Given the description of an element on the screen output the (x, y) to click on. 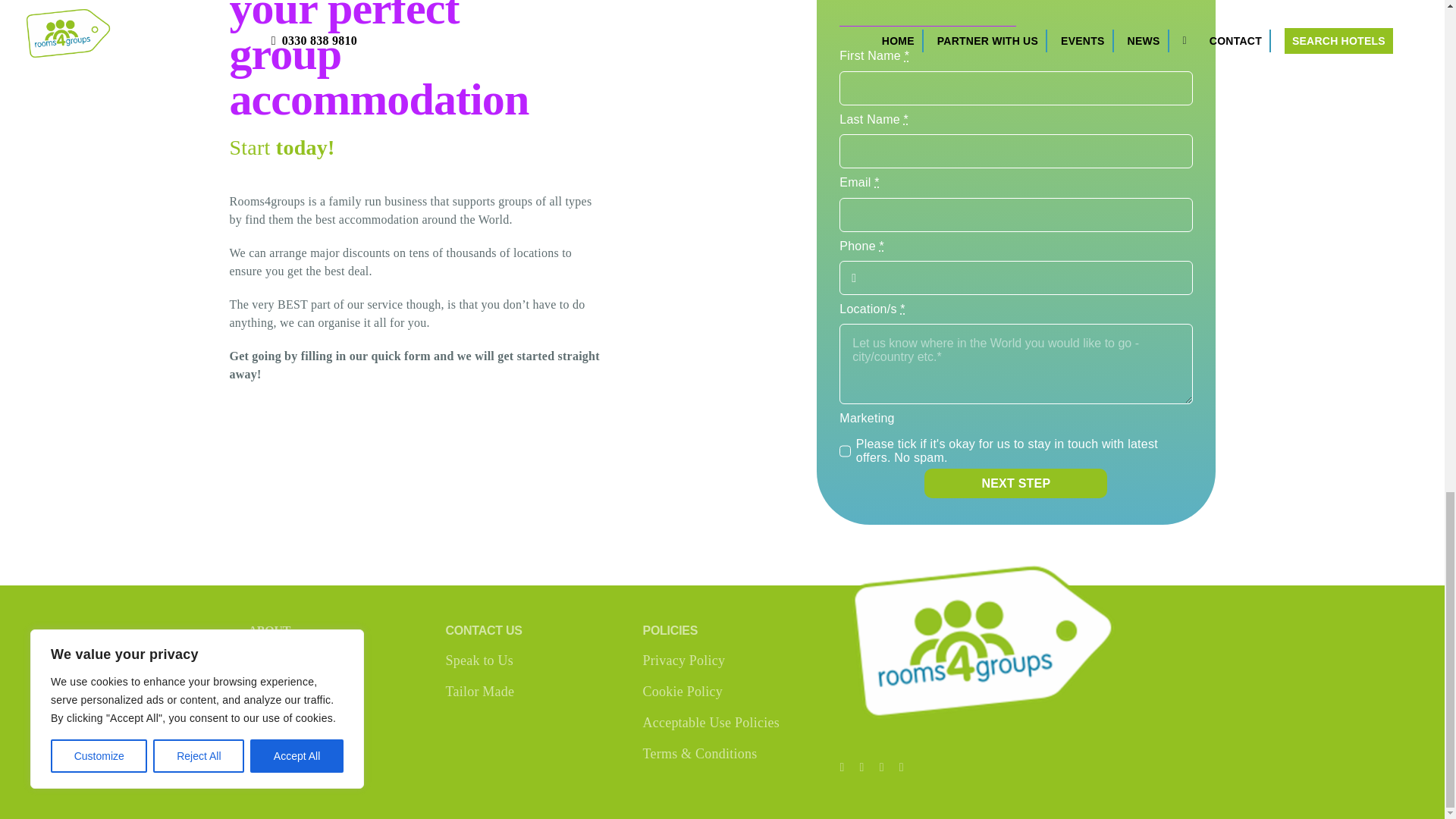
NEXT STEP (1015, 482)
7807c1f7a2e03129608cde45067d5b65 (1010, 645)
